Given the description of an element on the screen output the (x, y) to click on. 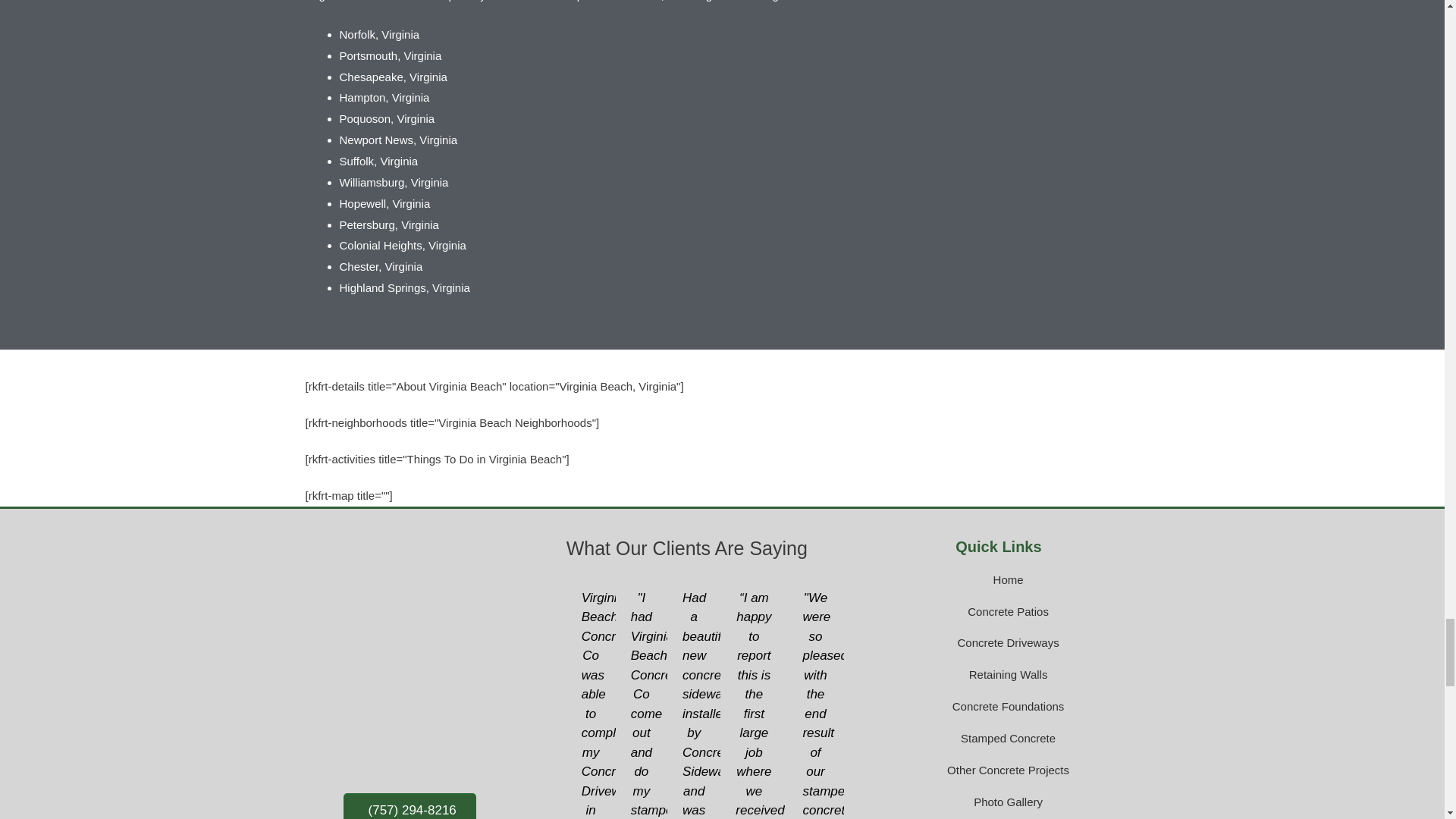
Concrete Driveways (998, 642)
Concrete Foundations (998, 706)
Stamped Concrete (998, 738)
Concrete Patios (998, 611)
Home (998, 579)
Retaining Walls (998, 674)
